Given the description of an element on the screen output the (x, y) to click on. 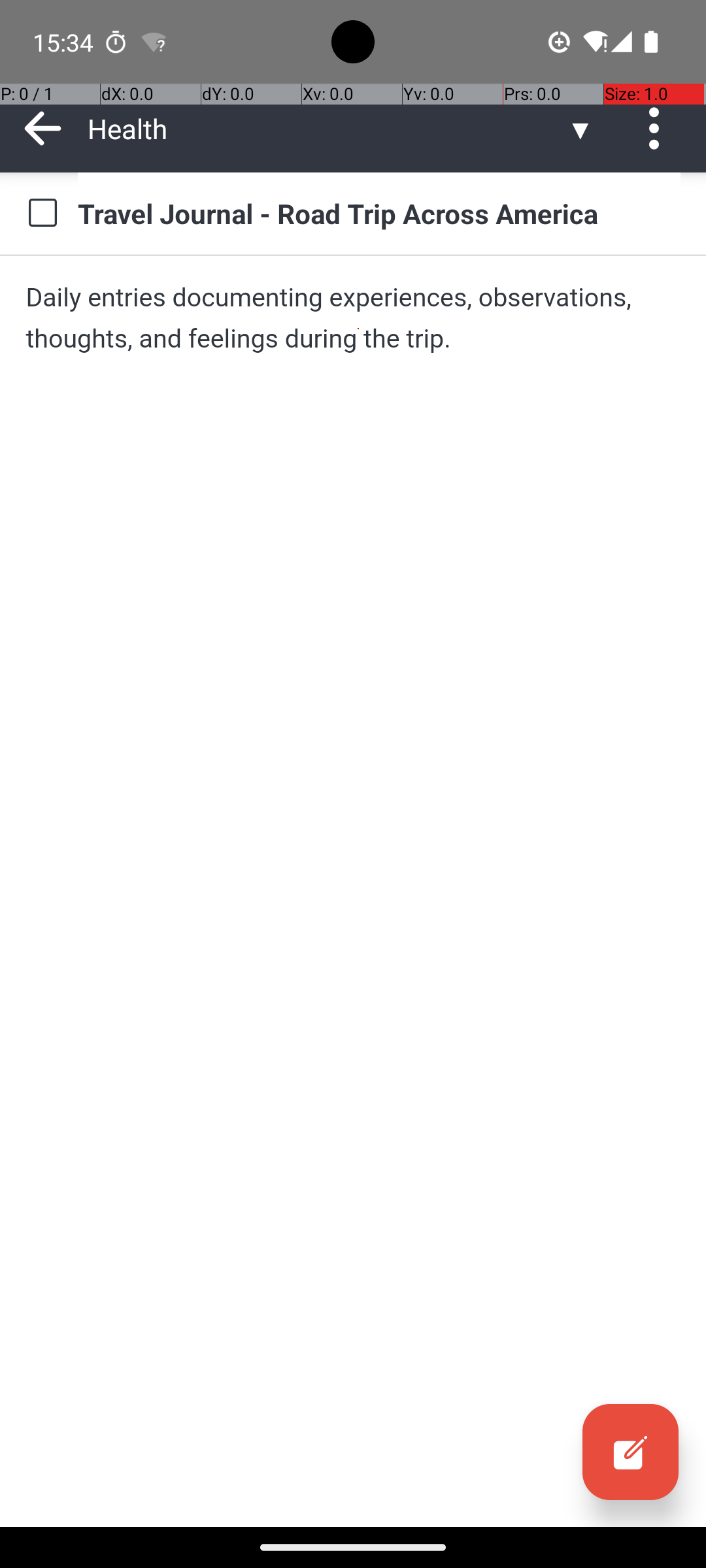
Daily entries documenting experiences, observations, thoughts, and feelings during the trip. Element type: android.widget.TextView (352, 317)
